Given the description of an element on the screen output the (x, y) to click on. 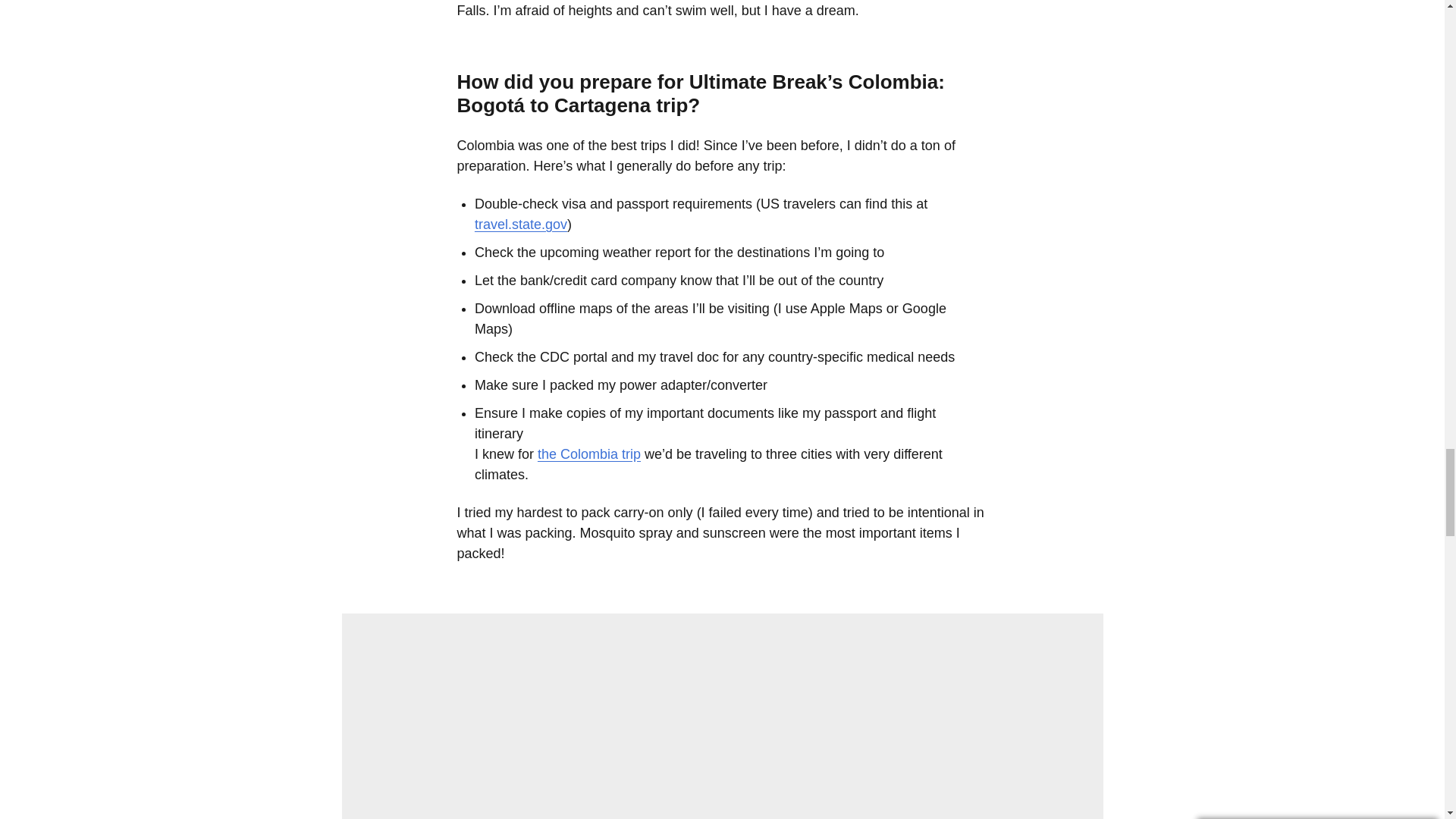
travel.state.gov (520, 224)
the Colombia trip (588, 453)
